Given the description of an element on the screen output the (x, y) to click on. 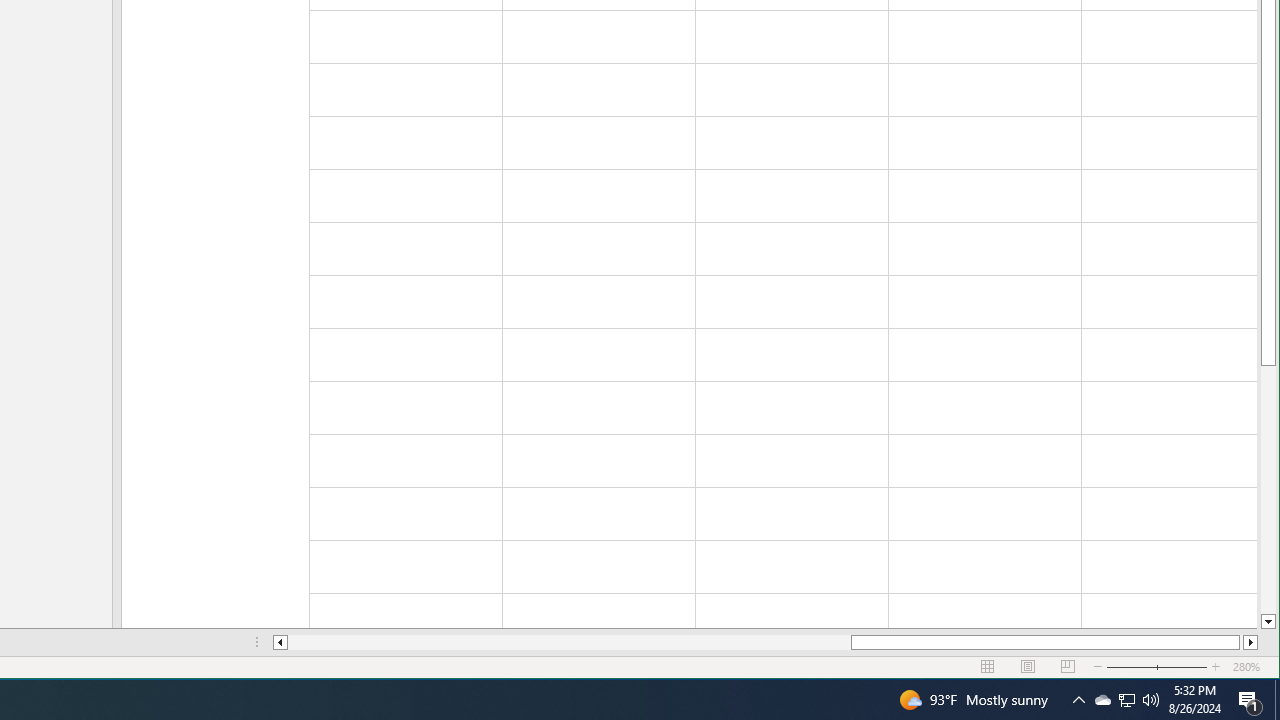
User Promoted Notification Area (1126, 699)
Page left (569, 642)
Action Center, 1 new notification (1250, 699)
Q2790: 100% (1151, 699)
Page down (1268, 489)
